Given the description of an element on the screen output the (x, y) to click on. 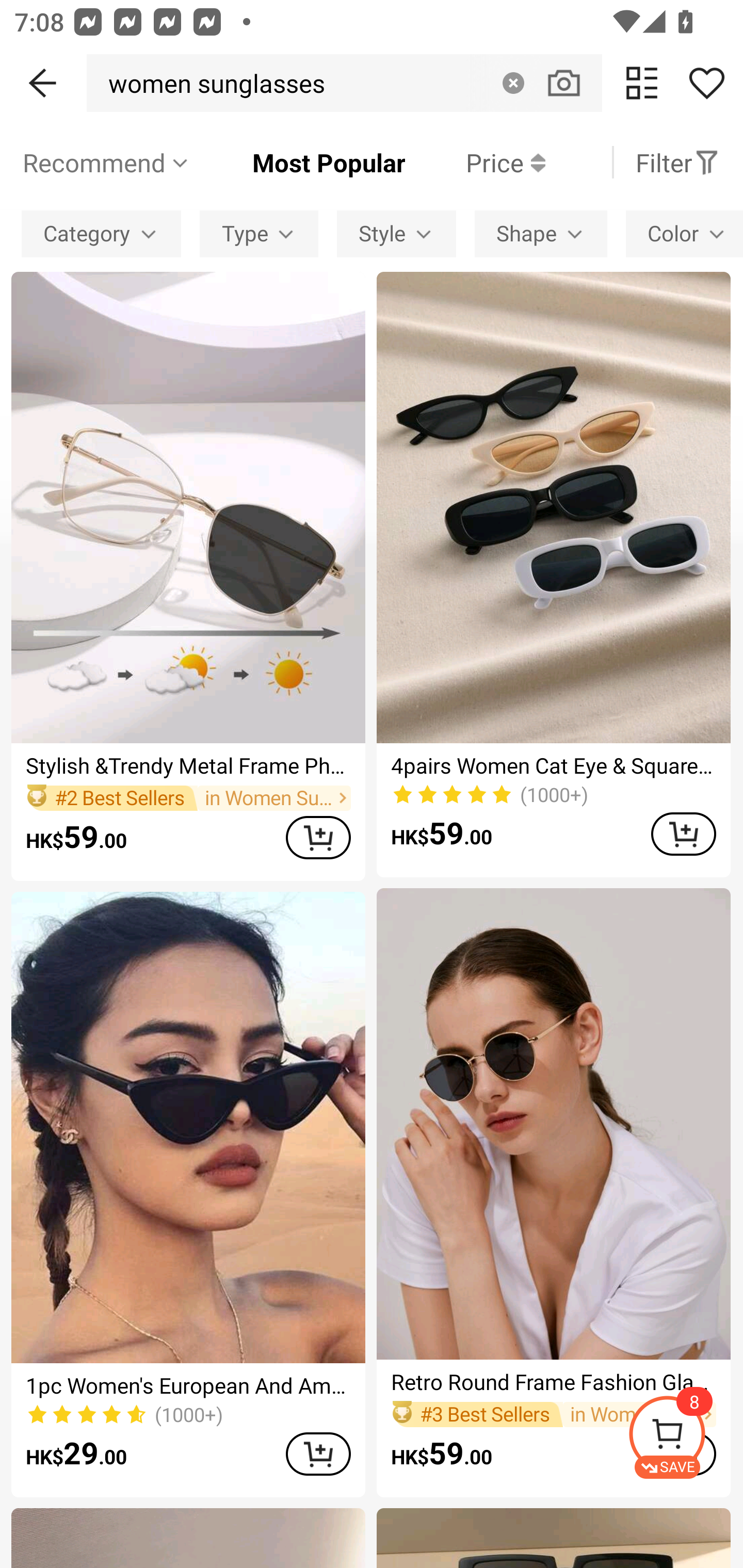
women sunglasses Clear (343, 82)
women sunglasses (210, 82)
Clear (513, 82)
change view (641, 82)
Share (706, 82)
Recommend (106, 162)
Most Popular (297, 162)
Price (474, 162)
Filter (677, 162)
Category (101, 233)
Type (258, 233)
Style (396, 233)
Shape (540, 233)
Color (684, 233)
#2 Best Sellers in Women Sunglasses (188, 798)
ADD TO CART (683, 834)
ADD TO CART (318, 837)
SAVE (685, 1436)
#3 Best Sellers in Women Fashion Glasses (553, 1414)
ADD TO CART (318, 1453)
